Given the description of an element on the screen output the (x, y) to click on. 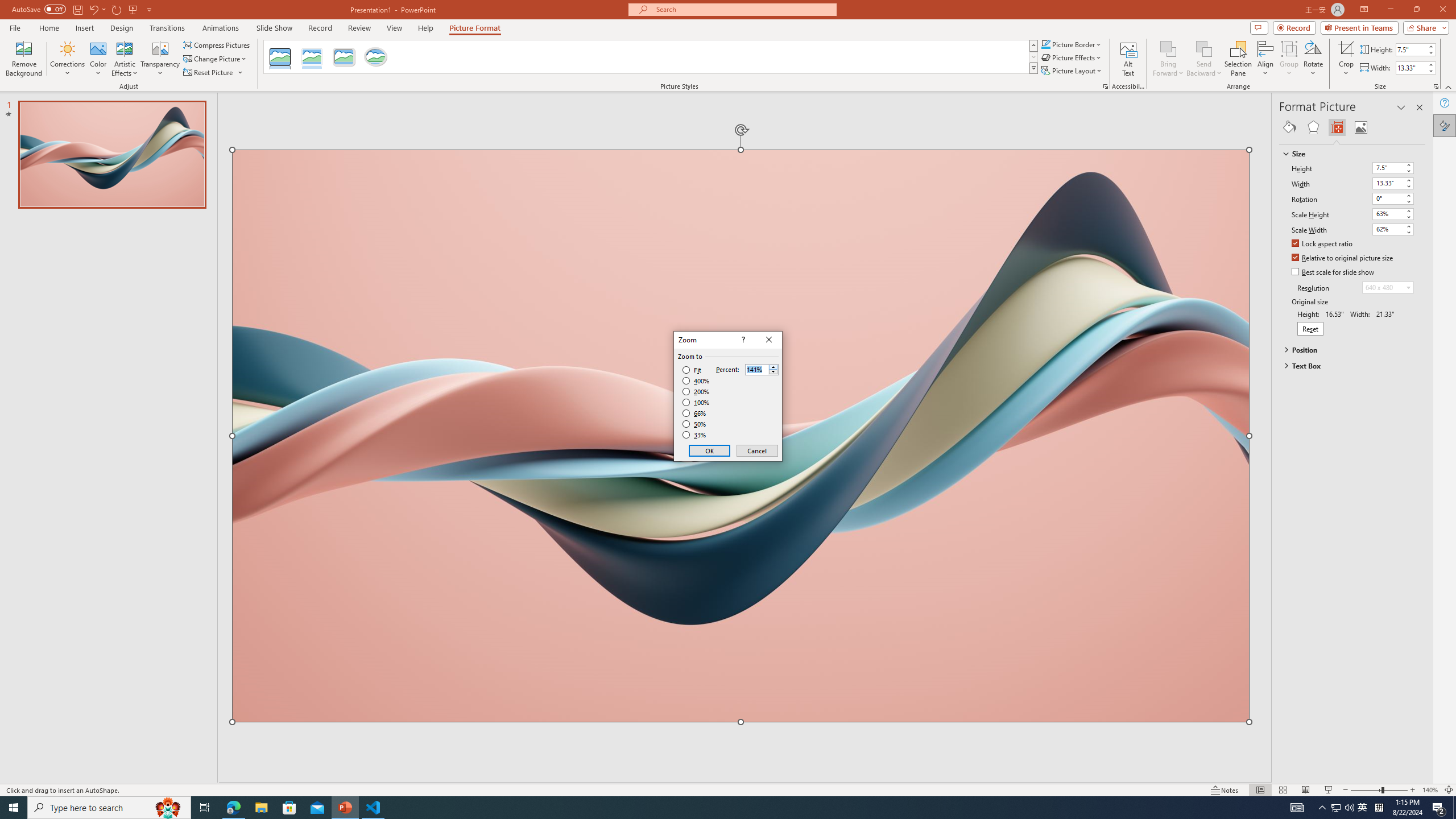
Lock aspect ratio (1322, 244)
66% (694, 412)
Metal Rounded Rectangle (343, 56)
Context help (742, 339)
Color (97, 58)
